Given the description of an element on the screen output the (x, y) to click on. 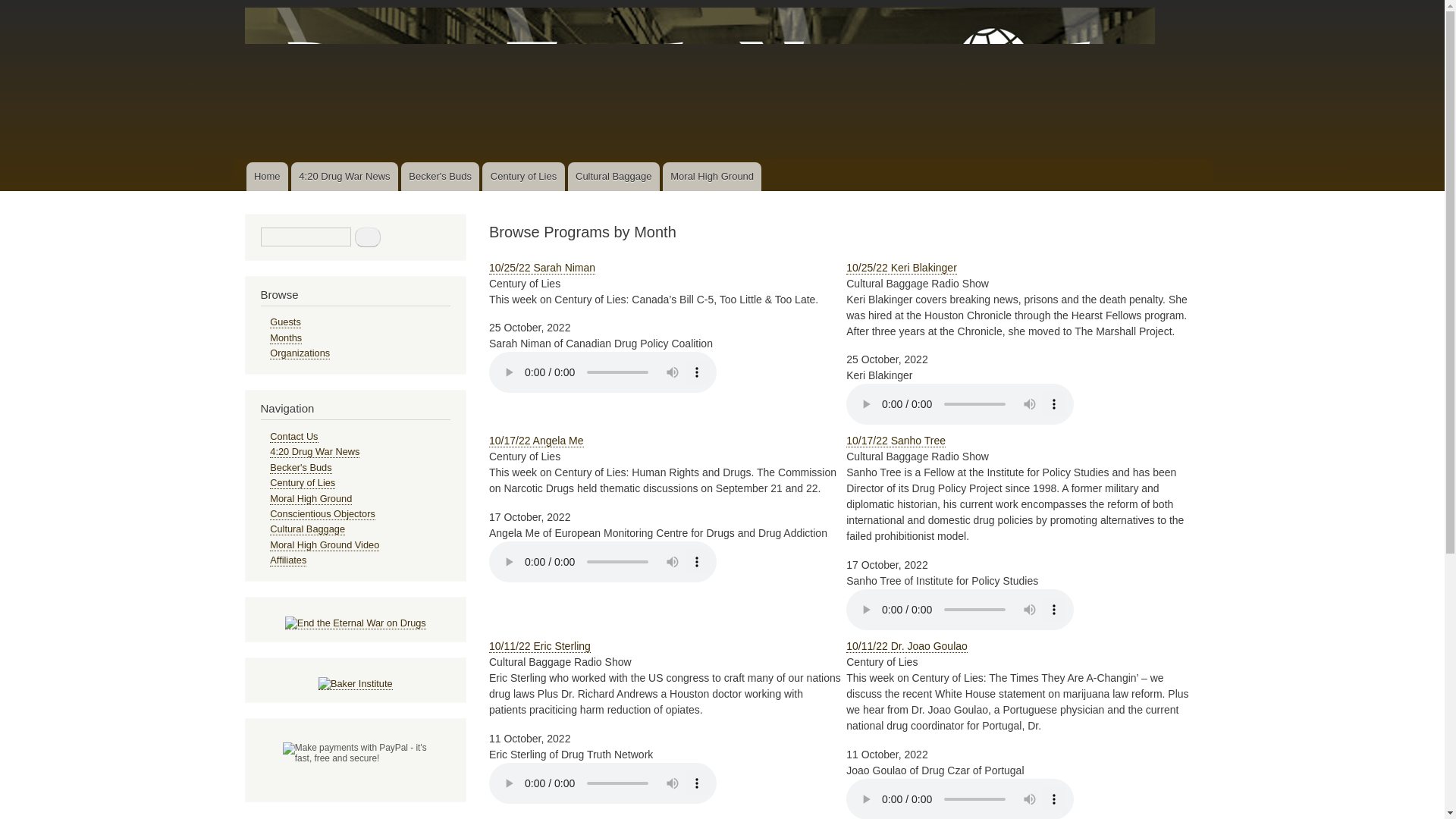
Moral High Ground (310, 499)
Century of Lies (522, 176)
Century of Lies (522, 176)
Browse and search programs by guest (285, 322)
Cultural Baggage (613, 176)
Claiming the Moral High Ground (711, 176)
Search (367, 237)
Cultural Baggage Radio Show (613, 176)
Conscientious Objectors (322, 513)
Becker's Buds (440, 176)
Becker's Buds Video Interviews (440, 176)
Claiming the Moral High Ground Video (323, 544)
Contact Us (293, 436)
Affiliates (287, 560)
Moral High Ground (711, 176)
